Given the description of an element on the screen output the (x, y) to click on. 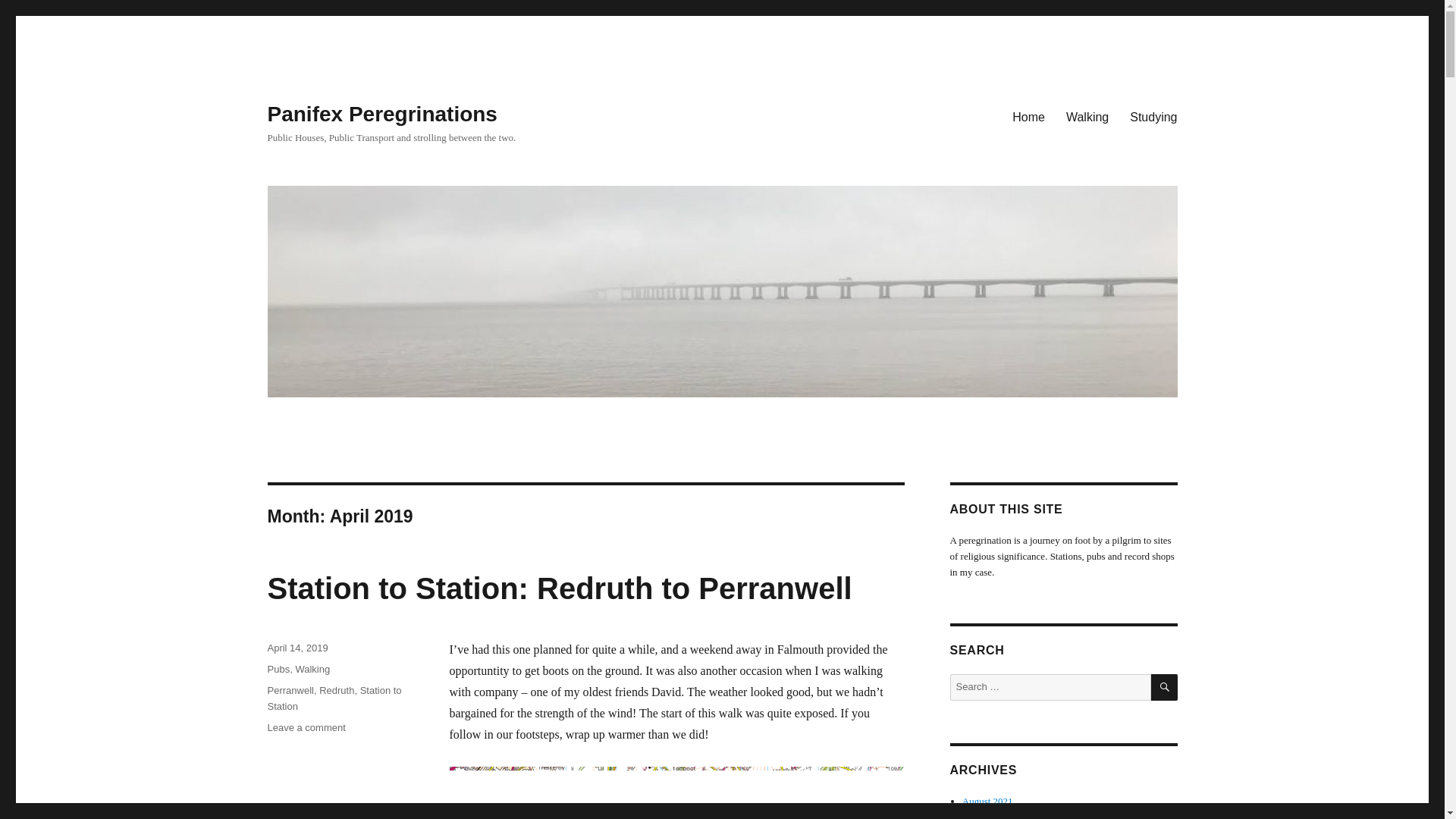
Walking (1087, 116)
Redruth (335, 690)
Studying (1153, 116)
Pubs (277, 668)
Home (305, 727)
Perranwell (1028, 116)
Panifex Peregrinations (289, 690)
Station to Station (381, 114)
Walking (333, 697)
Station to Station: Redruth to Perranwell (312, 668)
April 14, 2019 (558, 588)
